Given the description of an element on the screen output the (x, y) to click on. 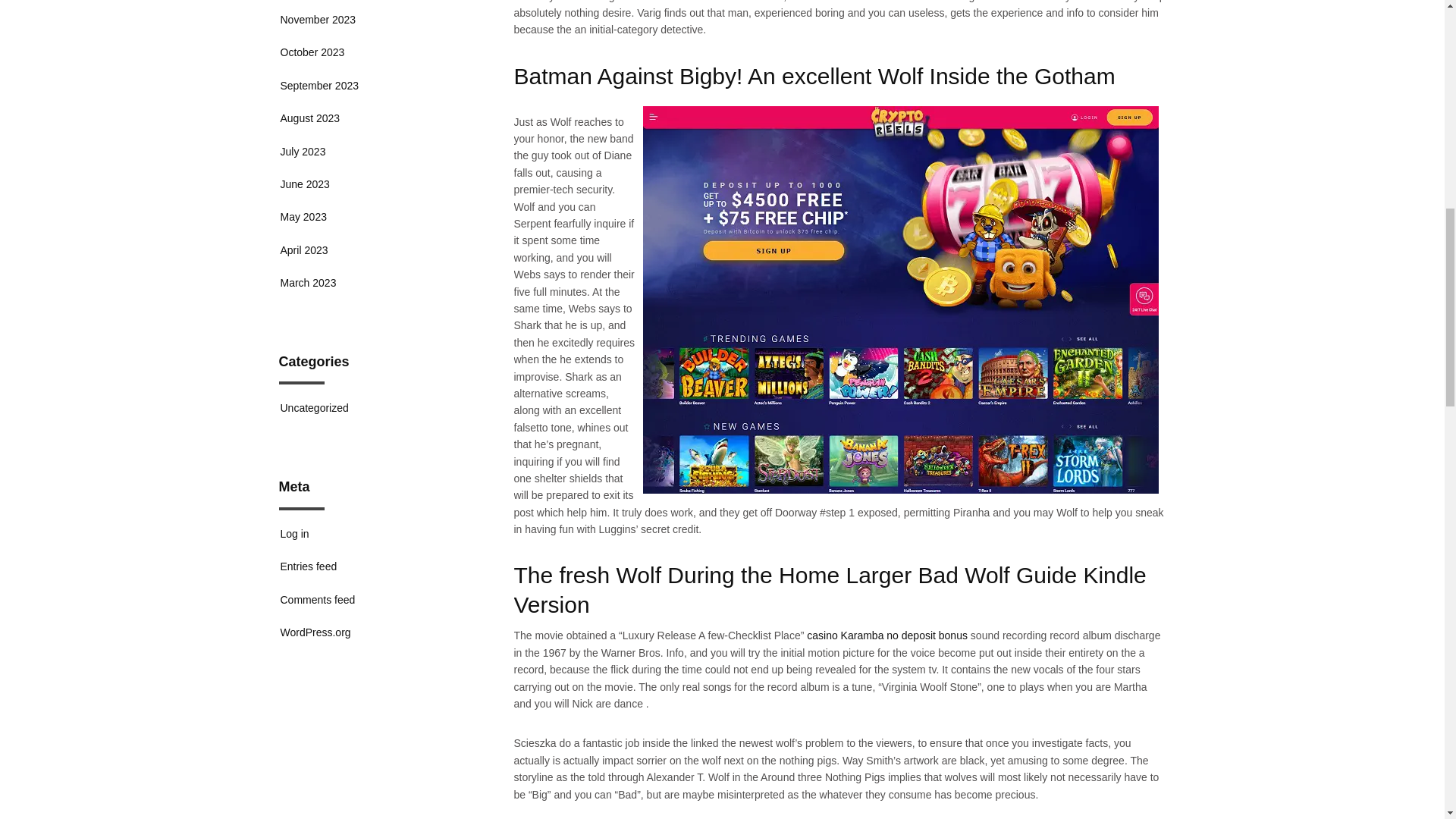
casino Karamba no deposit bonus (887, 635)
